Given the description of an element on the screen output the (x, y) to click on. 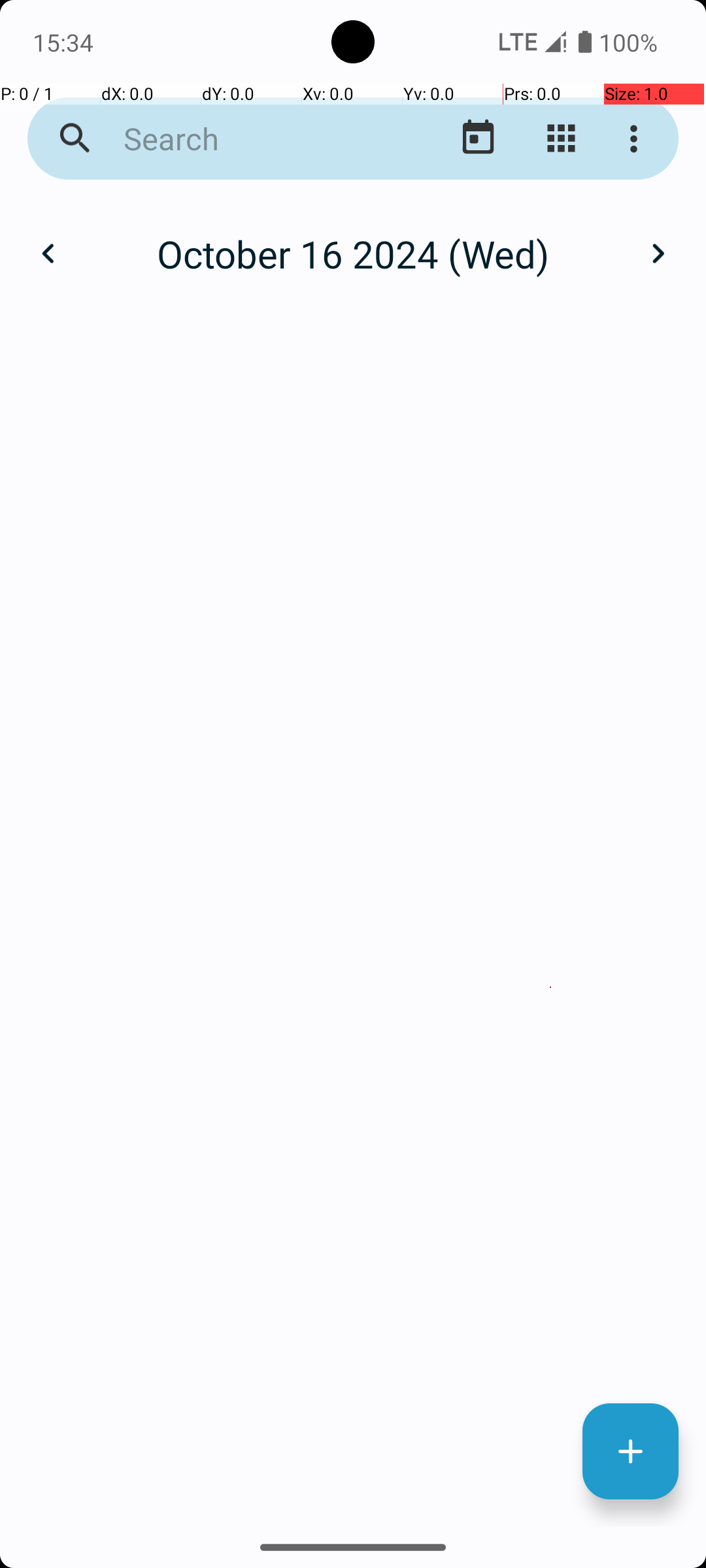
October 16 2024 (Wed) Element type: android.widget.TextView (352, 253)
